Given the description of an element on the screen output the (x, y) to click on. 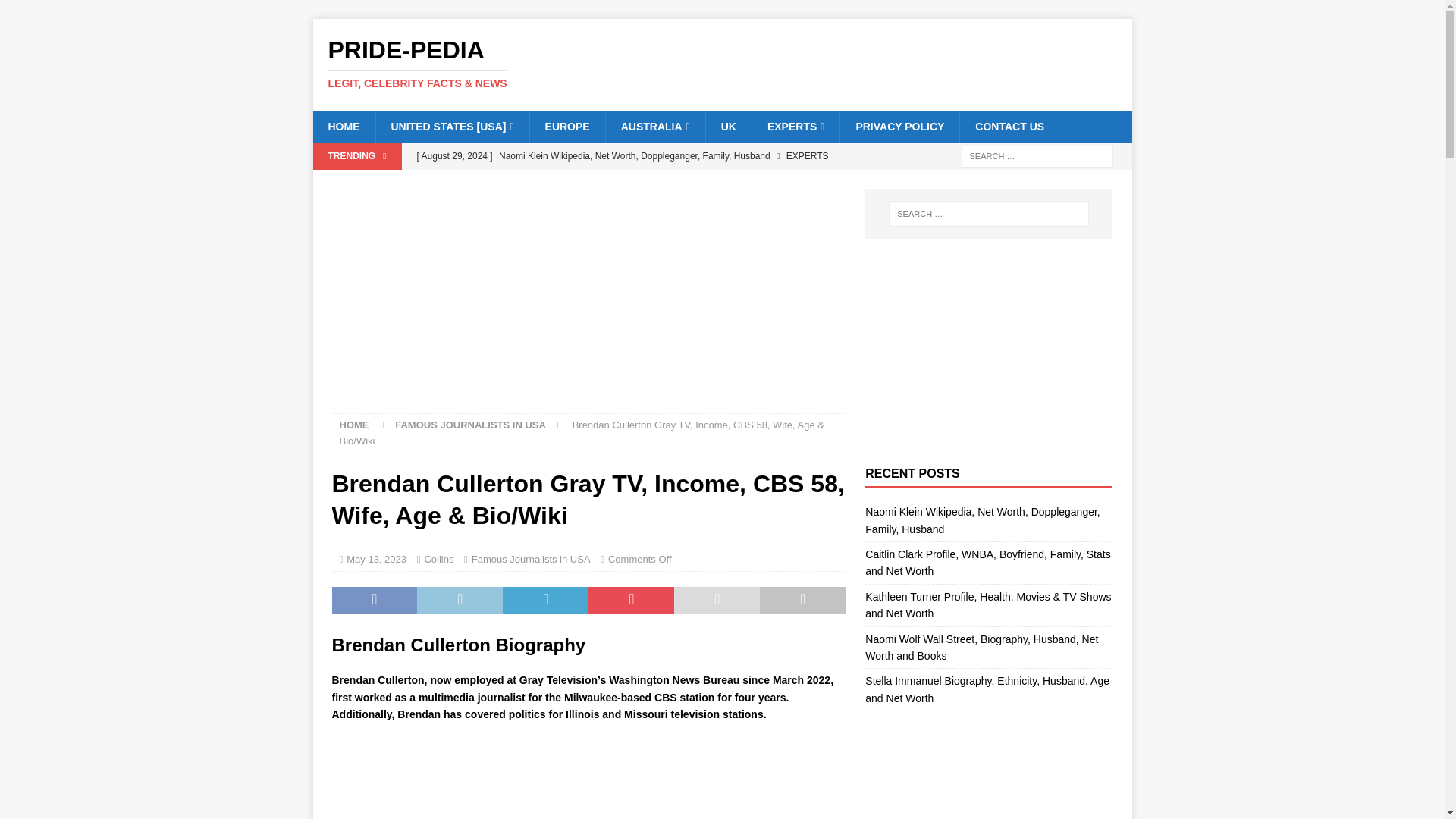
Advertisement (588, 778)
HOME (343, 126)
CONTACT US (1009, 126)
Pride-pedia (721, 63)
AUSTRALIA (654, 126)
UK (727, 126)
EUROPE (567, 126)
Advertisement (588, 300)
